Given the description of an element on the screen output the (x, y) to click on. 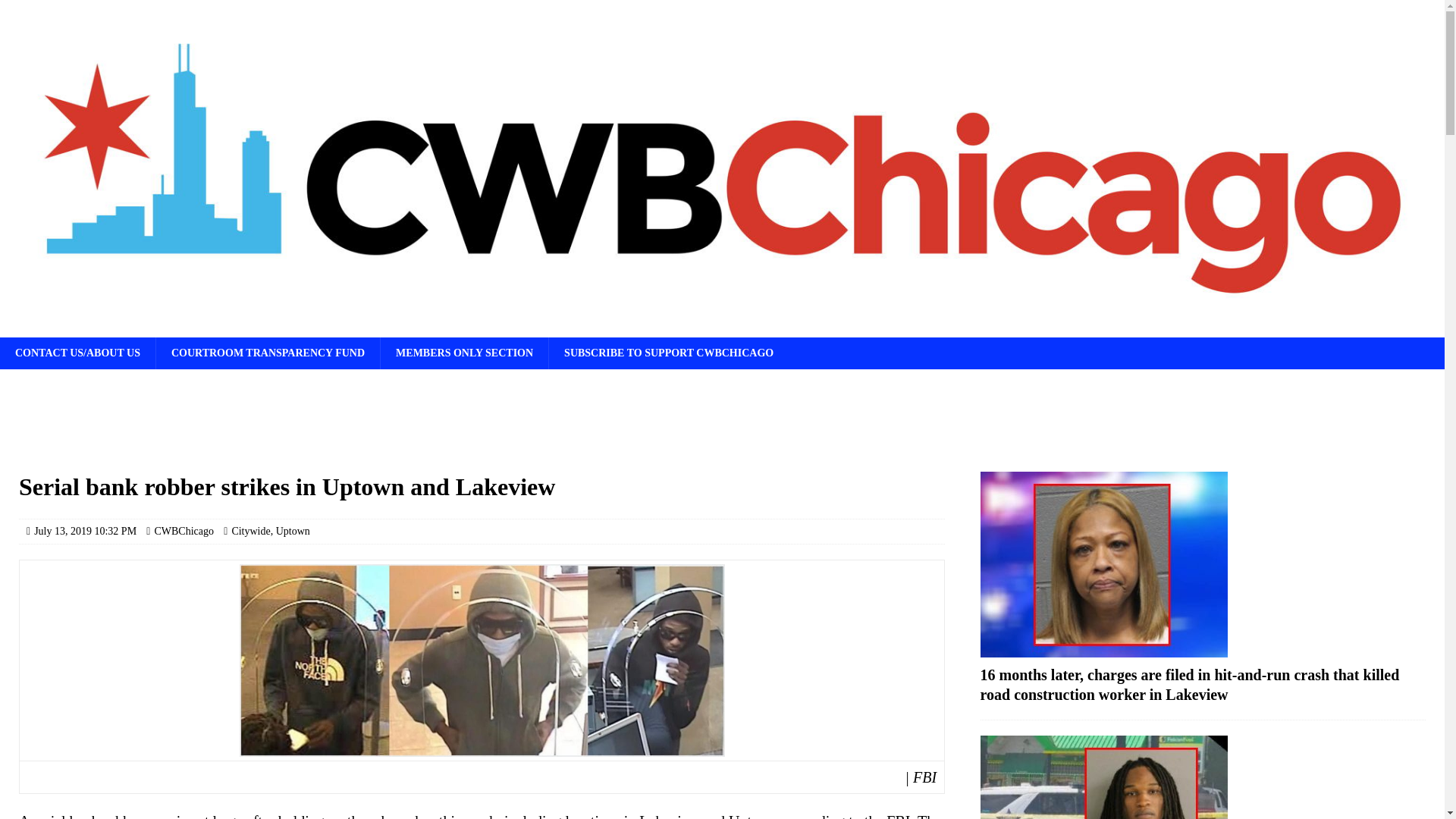
CWBChicago (184, 531)
SUBSCRIBE TO SUPPORT CWBCHICAGO (668, 353)
July 13, 2019 10:32 PM (84, 531)
Citywide (250, 531)
MEMBERS ONLY SECTION (464, 353)
COURTROOM TRANSPARENCY FUND (267, 353)
Uptown (293, 531)
